Given the description of an element on the screen output the (x, y) to click on. 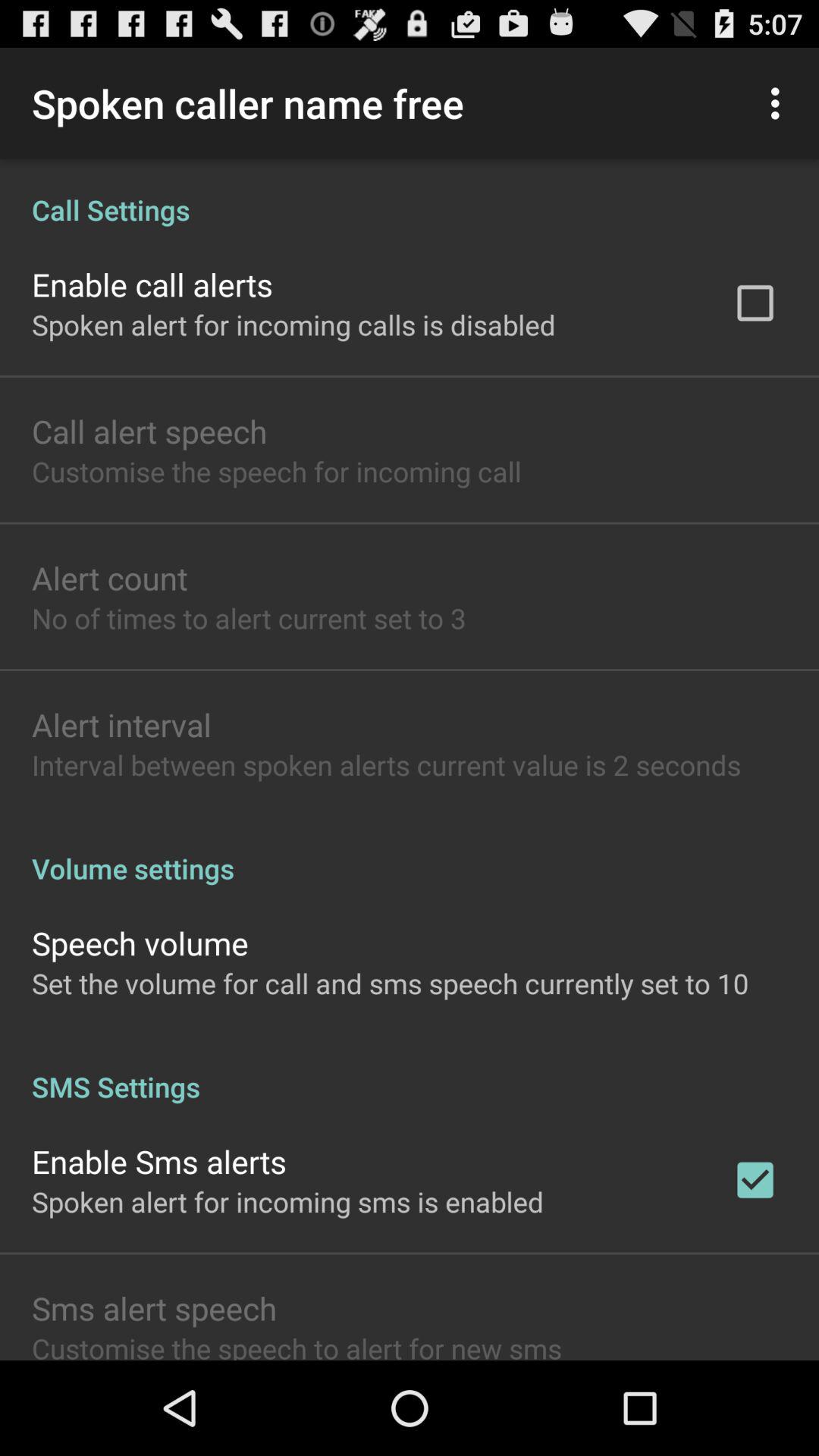
press set the volume app (390, 983)
